Given the description of an element on the screen output the (x, y) to click on. 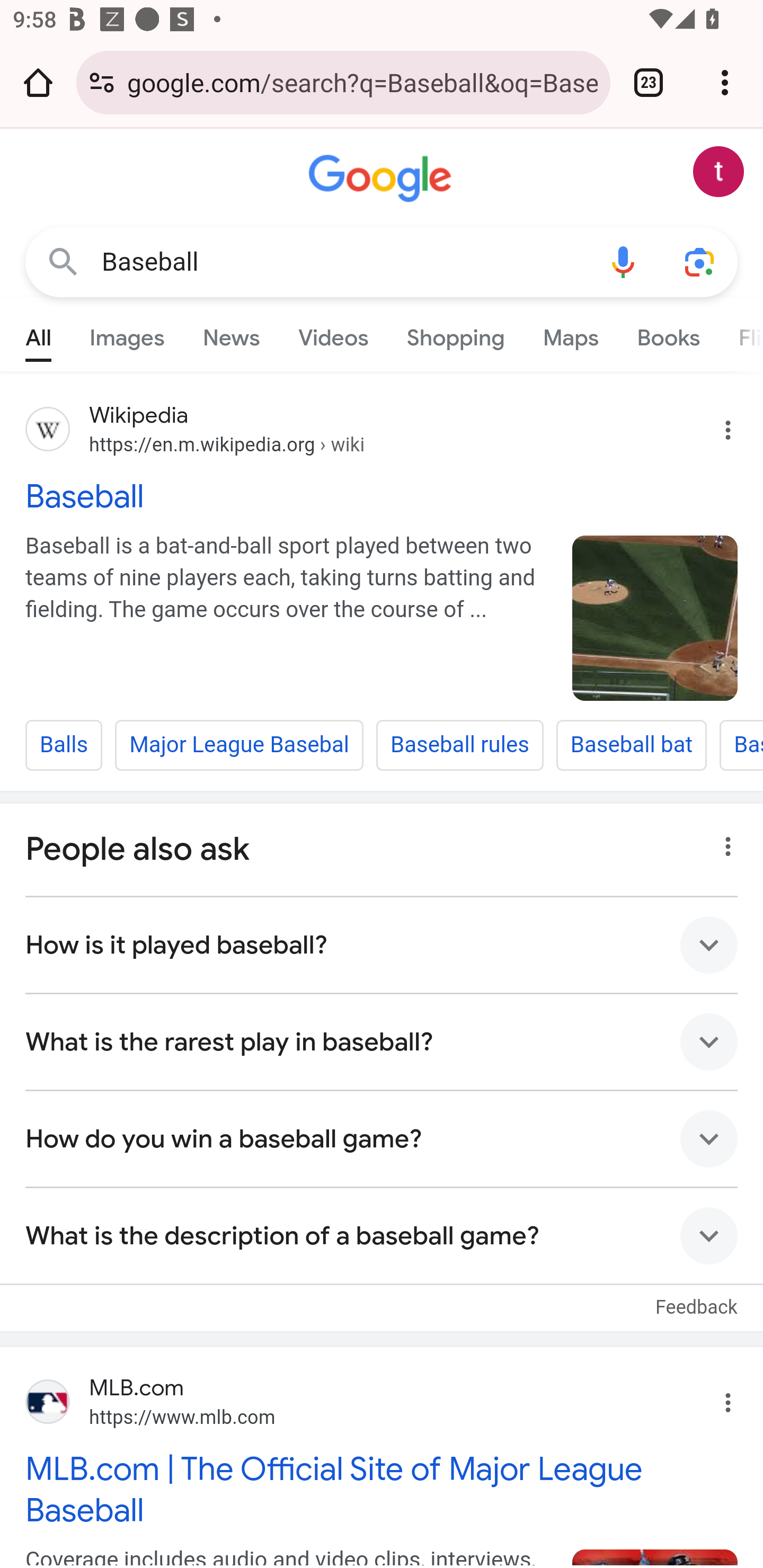
Open the home page (38, 82)
Connection is secure (101, 82)
Switch or close tabs (648, 82)
Customize and control Google Chrome (724, 82)
Google (381, 179)
Google Search (63, 262)
Search using your camera or photos (699, 262)
Baseball (343, 261)
Images (127, 333)
News (231, 333)
Videos (332, 333)
Shopping (455, 333)
Maps (570, 333)
Books (668, 333)
Baseball (381, 495)
Baseball (654, 617)
Balls (64, 744)
Major League Basebal (238, 744)
Baseball rules (459, 744)
Baseball bat (630, 744)
About this result (723, 840)
How is it played baseball? (381, 944)
What is the rarest play in baseball? (381, 1040)
How do you win a baseball game? (381, 1137)
What is the description of a baseball game? (381, 1235)
Feedback (696, 1297)
